Given the description of an element on the screen output the (x, y) to click on. 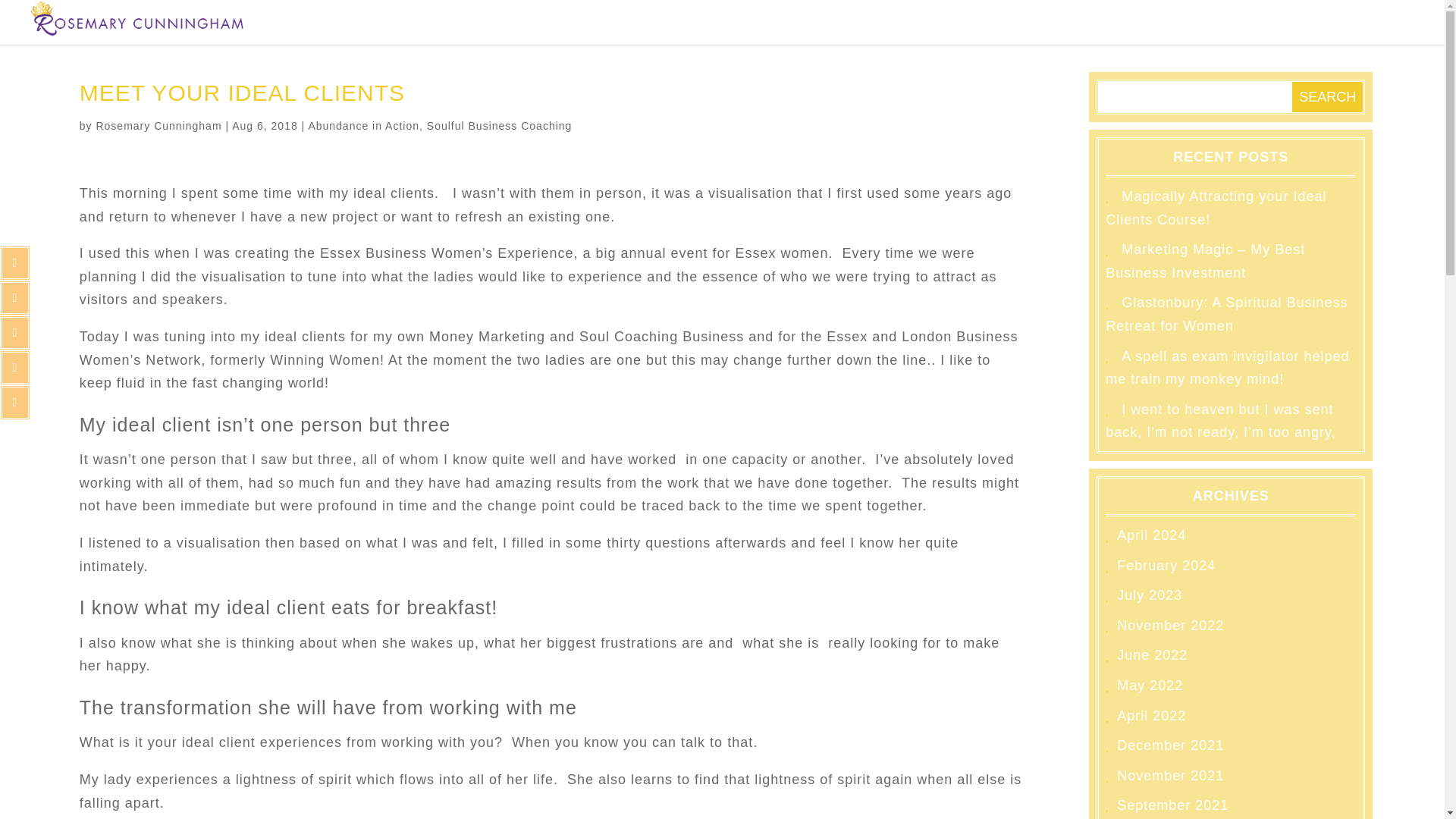
Magically Attracting your Ideal Clients Course! (1215, 208)
Rosemary Cunningham (158, 125)
Search (1327, 96)
SUCCESS STORIES (1025, 31)
HOME (697, 31)
Soulful Business Coaching (499, 125)
February 2024 (1165, 565)
CONTACT (1385, 31)
Glastonbury: A Spiritual Business Retreat for Women (1226, 313)
Abundance in Action (363, 125)
